Given the description of an element on the screen output the (x, y) to click on. 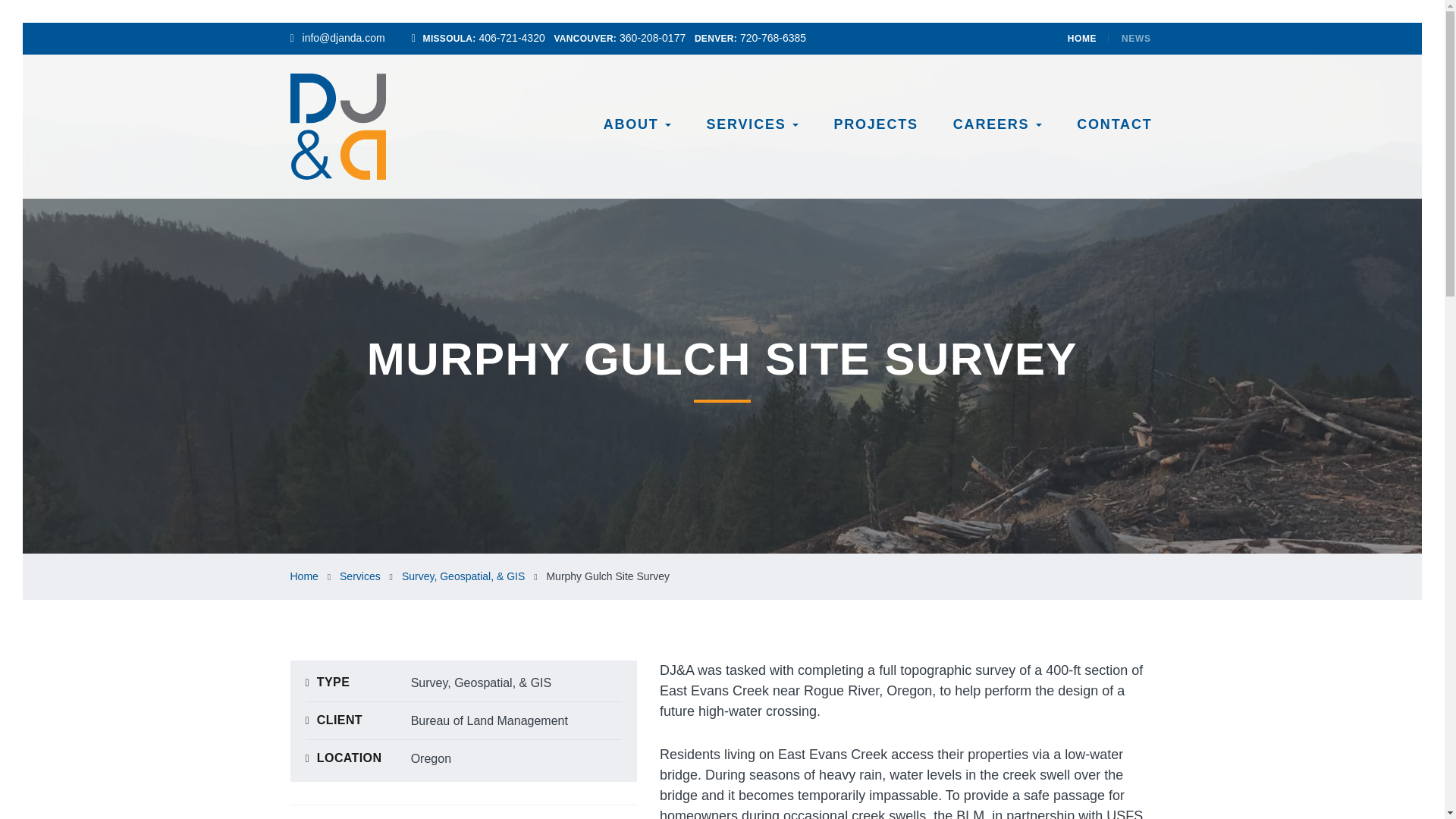
ABOUT (637, 123)
Home (303, 576)
NEWS (1131, 37)
Services (359, 576)
CONTACT (1114, 123)
HOME (1087, 37)
PROJECTS (875, 123)
SERVICES (752, 123)
CAREERS (997, 123)
Go to Services. (359, 576)
